Given the description of an element on the screen output the (x, y) to click on. 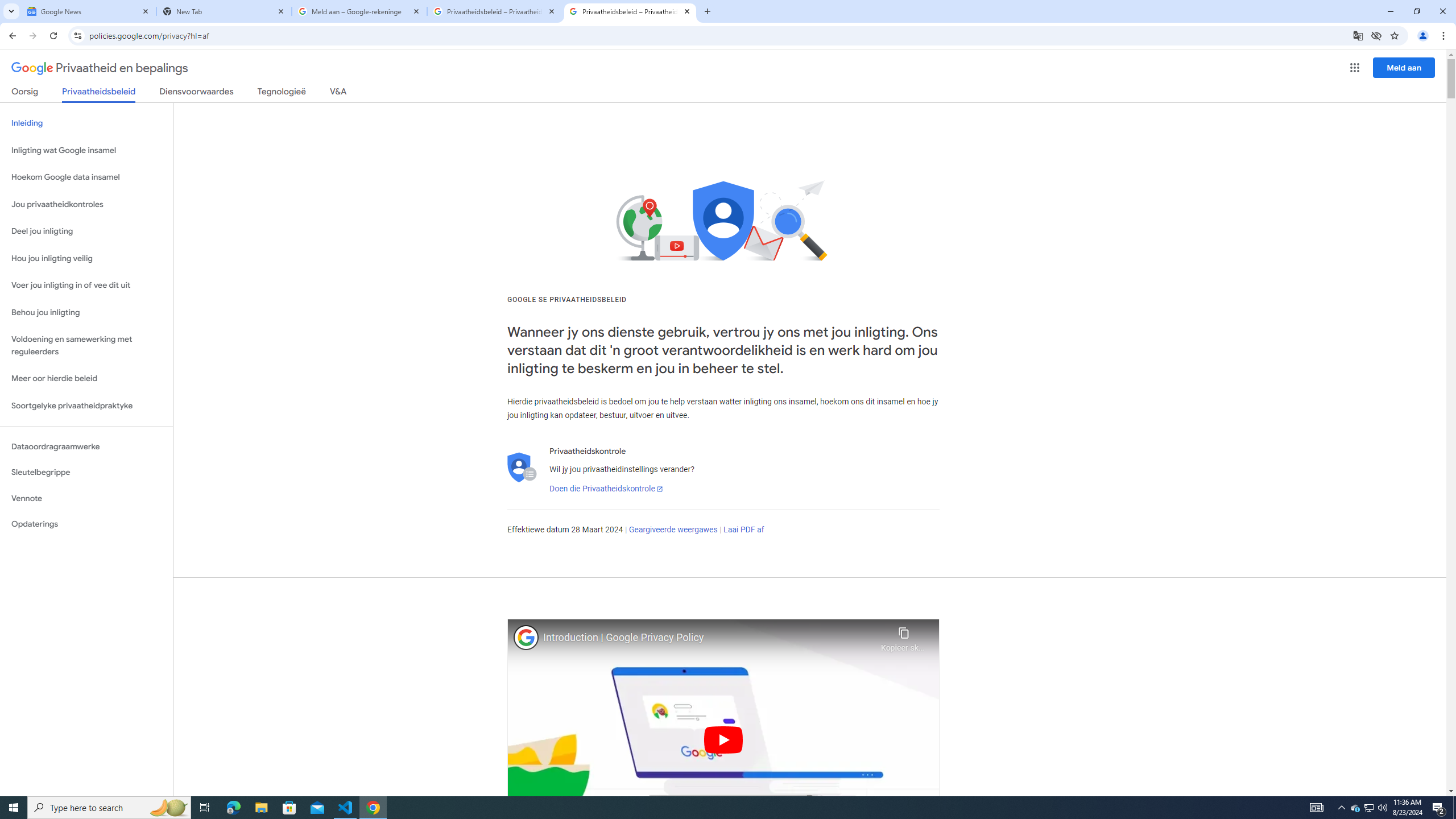
New comment (1186, 179)
Table of Contents (44, 92)
Page right (802, 202)
Cross-reference... (644, 112)
Page left (751, 202)
